Given the description of an element on the screen output the (x, y) to click on. 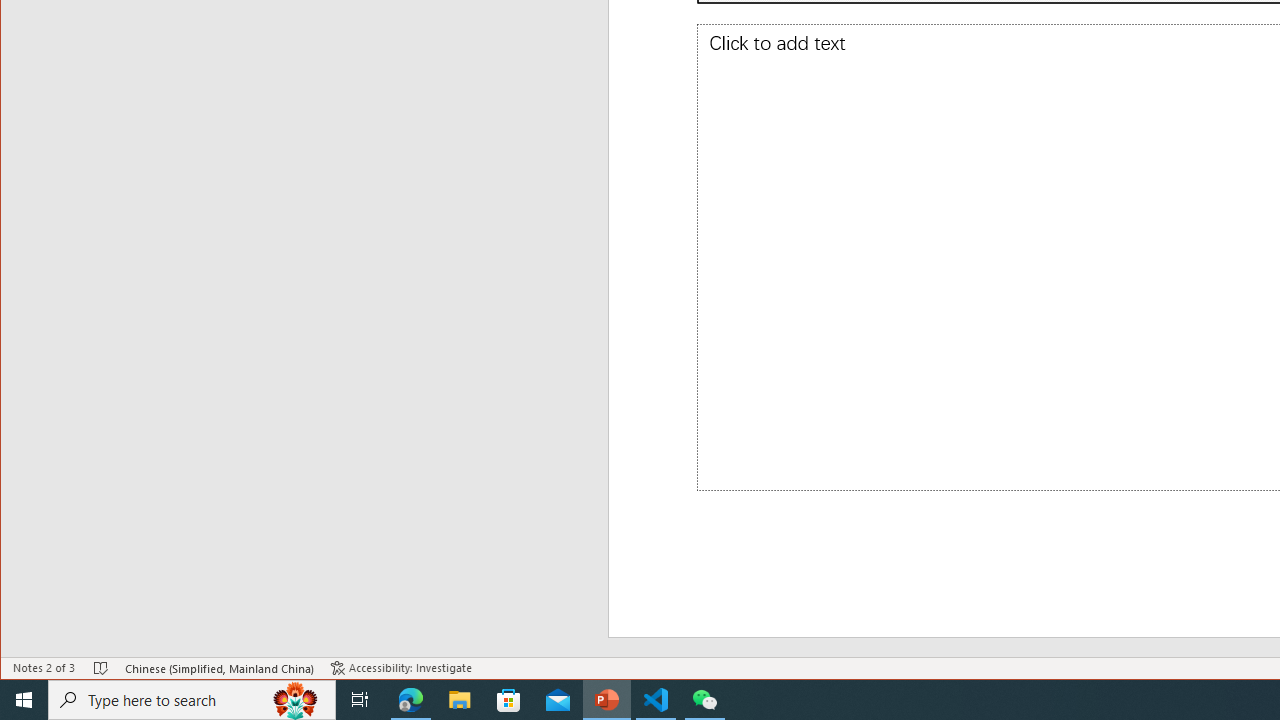
WeChat - 1 running window (704, 699)
Microsoft Edge - 1 running window (411, 699)
